Given the description of an element on the screen output the (x, y) to click on. 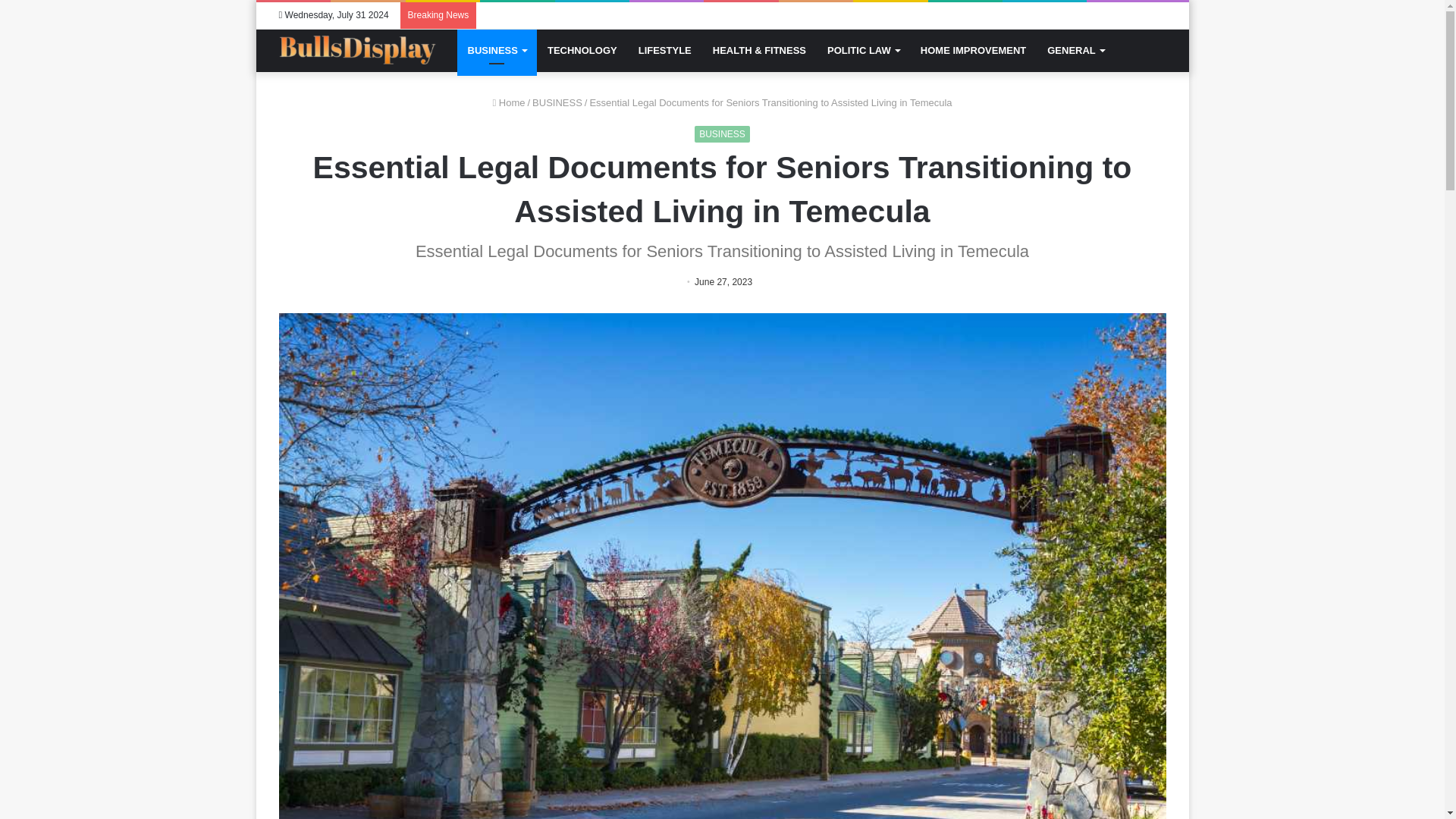
GENERAL (1075, 50)
TECHNOLOGY (582, 50)
POLITIC LAW (863, 50)
Home (508, 102)
BUSINESS (721, 134)
LIFESTYLE (664, 50)
BUSINESS (557, 102)
Bulls Display (358, 50)
HOME IMPROVEMENT (973, 50)
BUSINESS (496, 50)
